Given the description of an element on the screen output the (x, y) to click on. 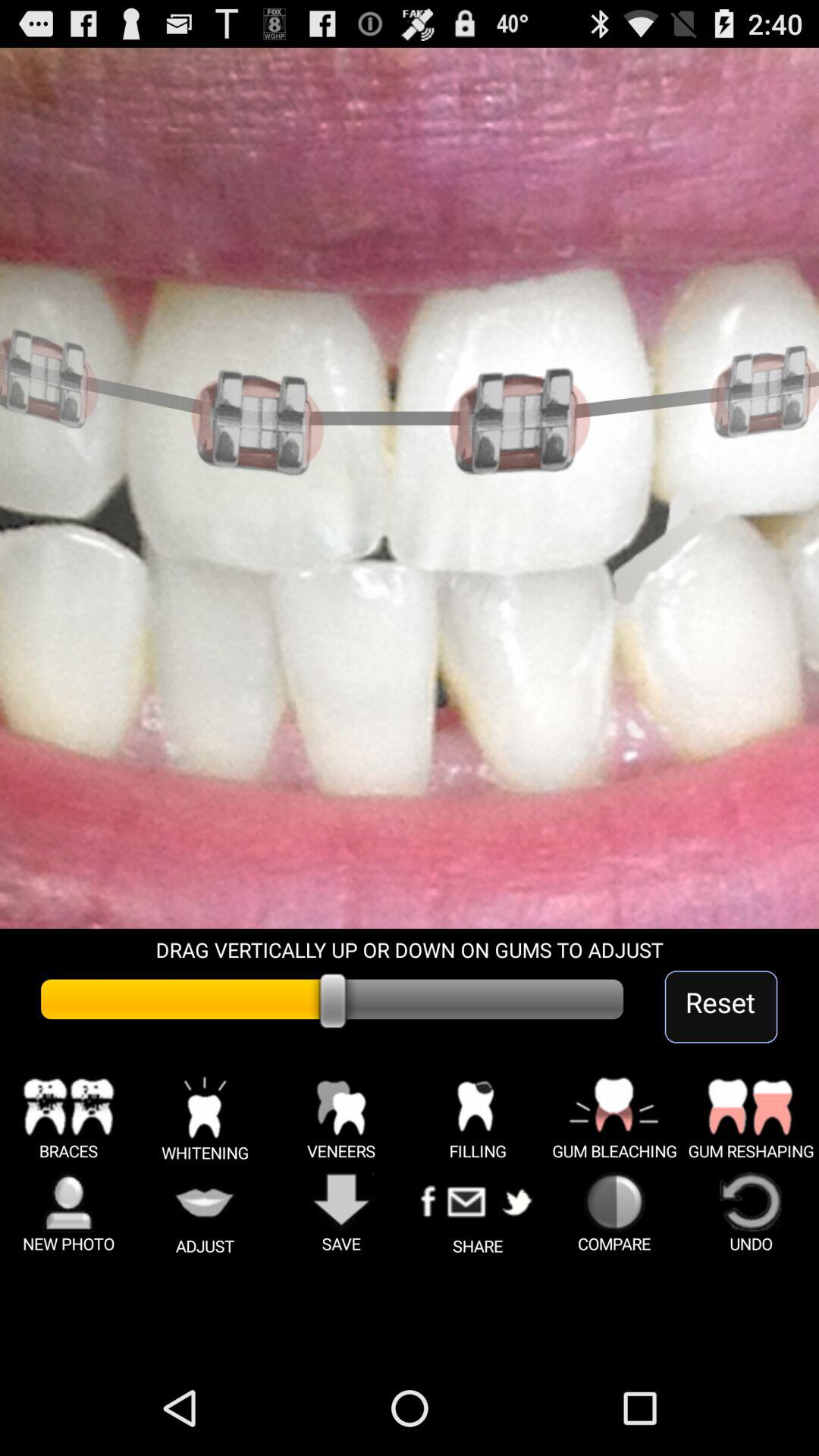
tap the reset item (721, 1006)
